Given the description of an element on the screen output the (x, y) to click on. 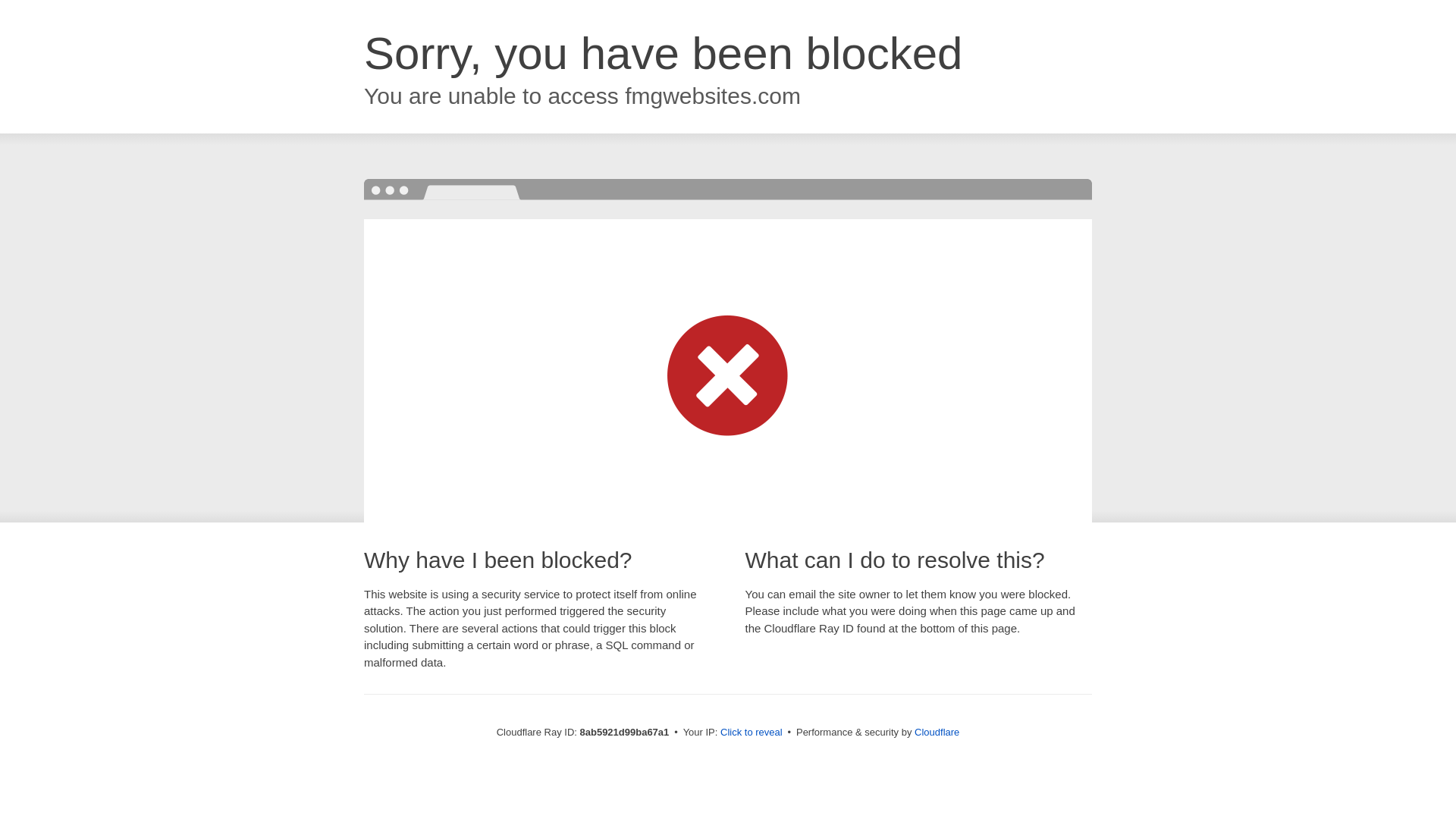
Cloudflare (936, 731)
Click to reveal (751, 732)
